Given the description of an element on the screen output the (x, y) to click on. 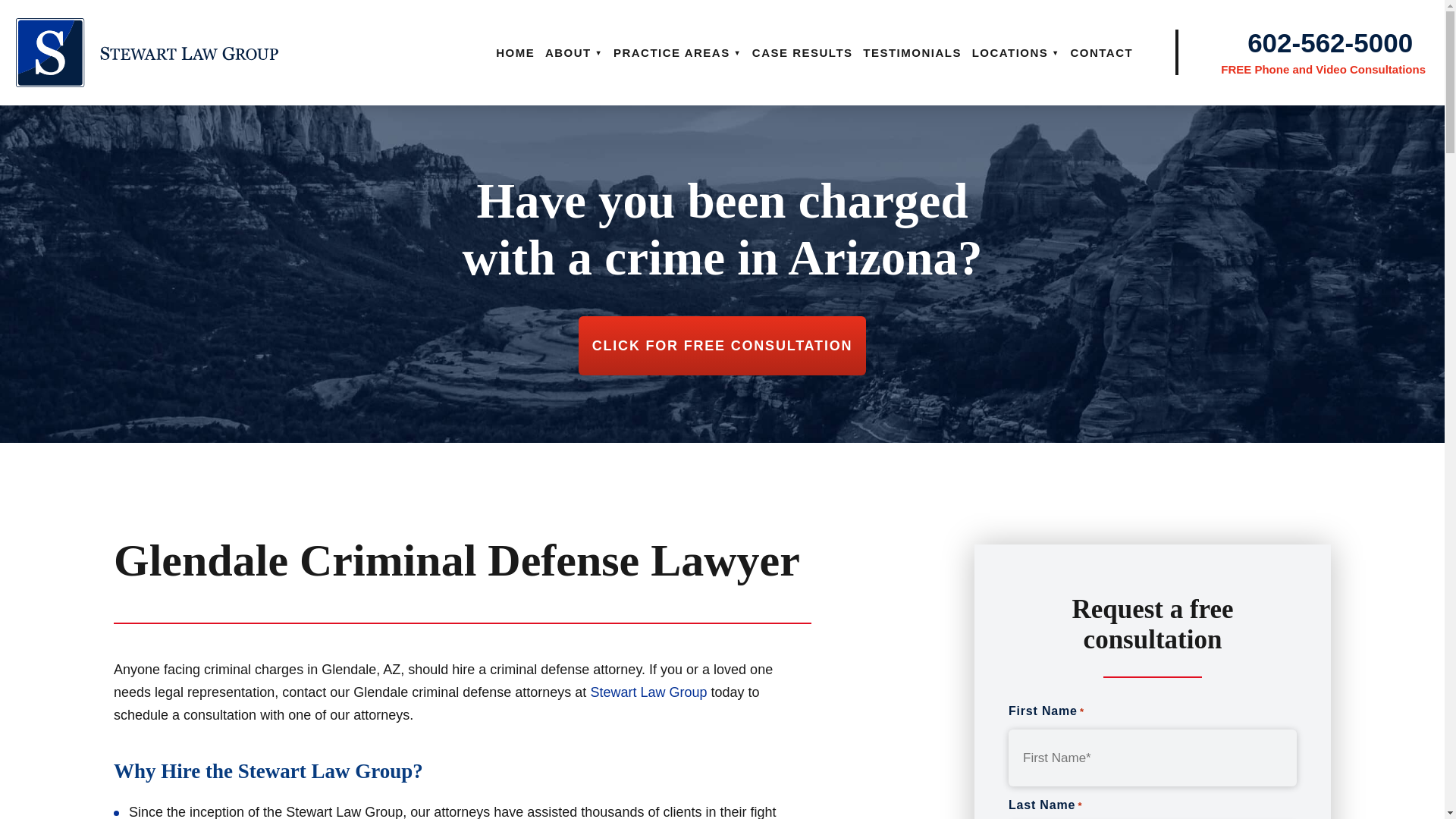
Stewart Law Group (647, 692)
PRACTICE AREAS (676, 52)
TESTIMONIALS (911, 52)
CASE RESULTS (802, 52)
ABOUT (573, 52)
602-562-5000 (1329, 42)
CONTACT (1101, 52)
CLICK FOR FREE CONSULTATION (722, 345)
LOCATIONS (1015, 52)
HOME (515, 52)
